Given the description of an element on the screen output the (x, y) to click on. 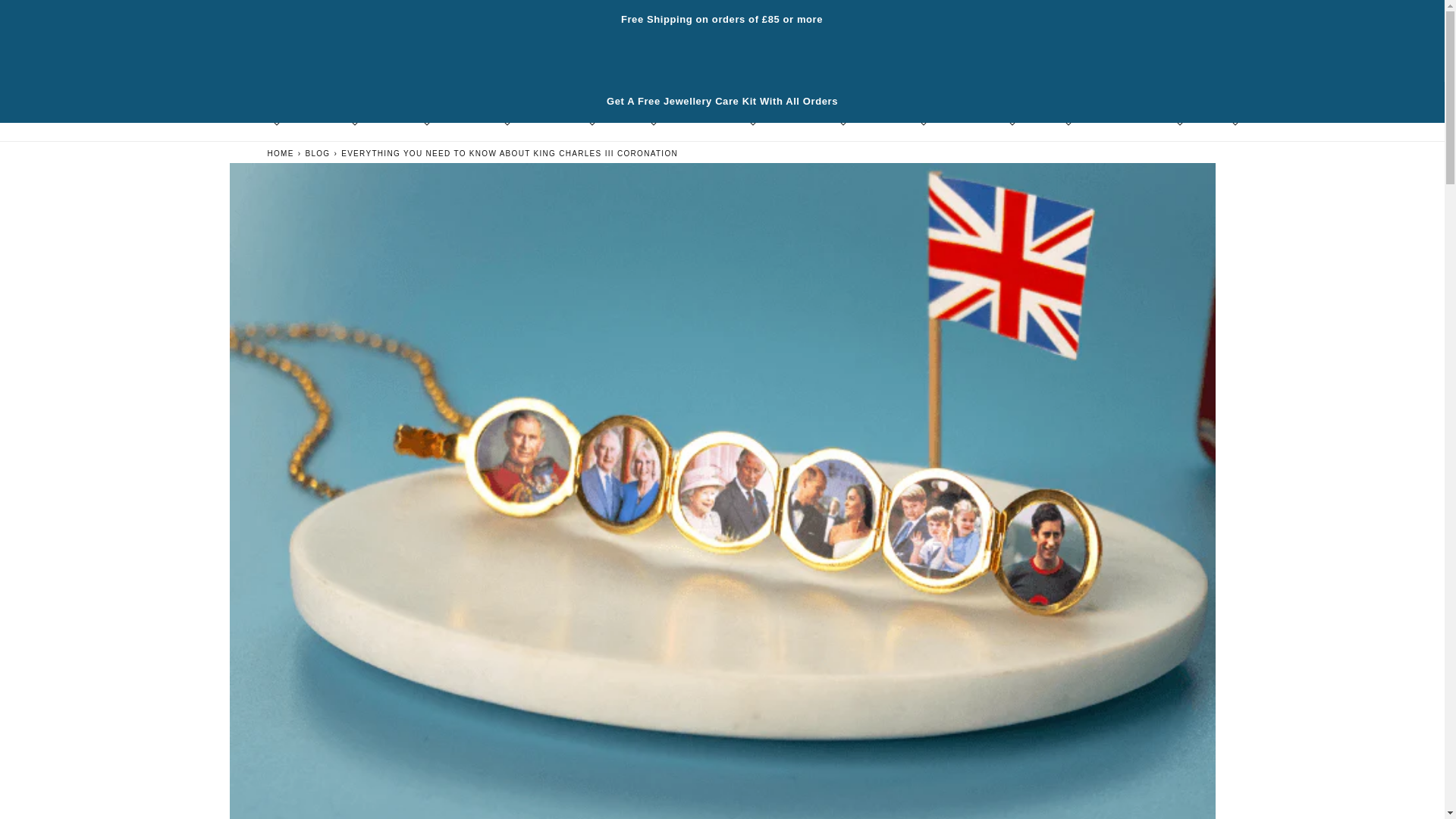
Skip to content (45, 17)
Home (286, 152)
